Given the description of an element on the screen output the (x, y) to click on. 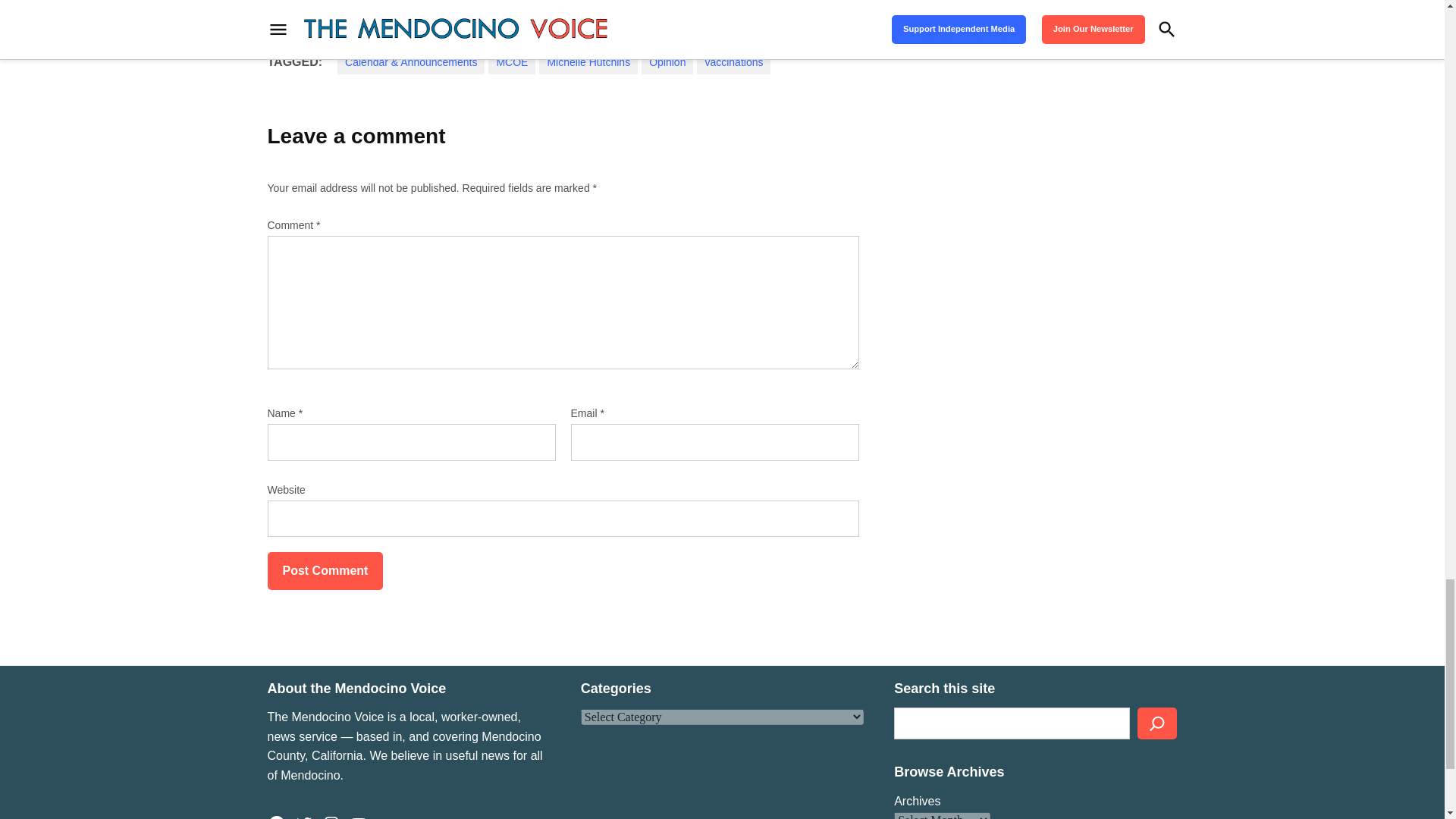
Post Comment (324, 570)
